Given the description of an element on the screen output the (x, y) to click on. 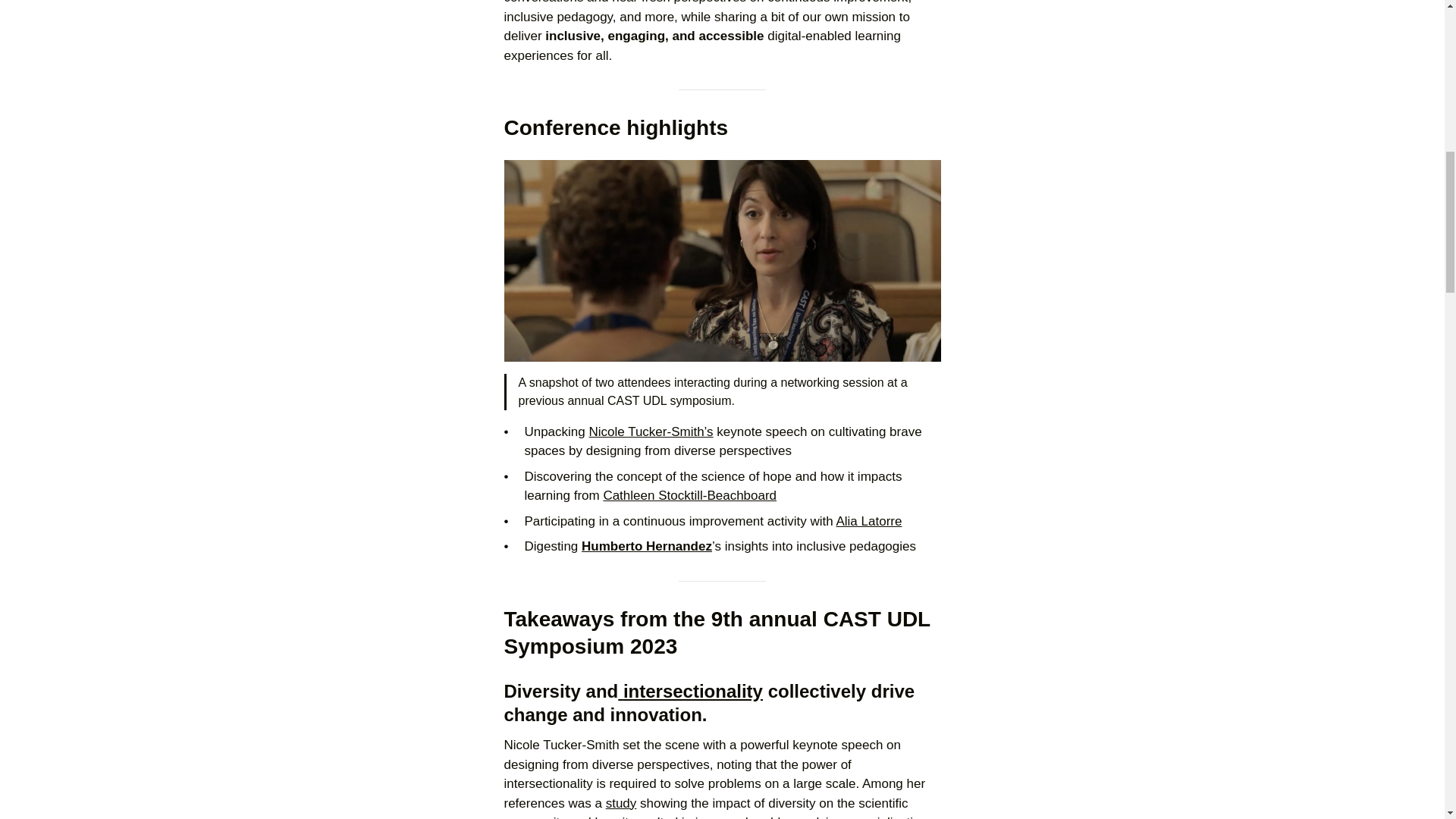
study (621, 803)
intersectionality (689, 690)
Humberto Hernandez (645, 545)
Cathleen Stocktill-Beachboard (689, 495)
Alia Latorre (868, 521)
